Given the description of an element on the screen output the (x, y) to click on. 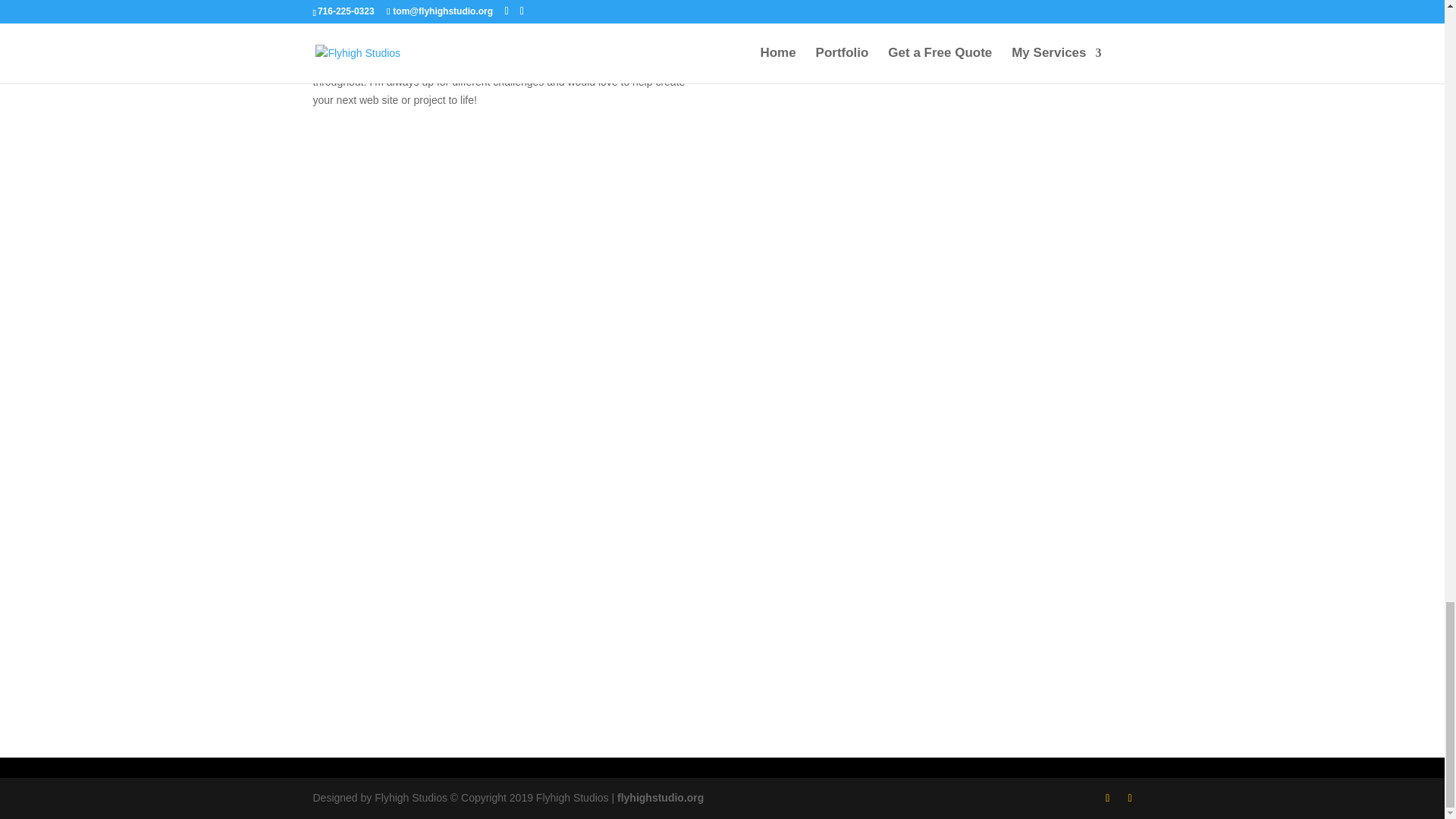
Follow on Twitter (706, 652)
Follow on dribbble (766, 652)
Follow on Facebook (675, 652)
flyhighstudio.org (660, 797)
Follow on Instagram (737, 652)
